Given the description of an element on the screen output the (x, y) to click on. 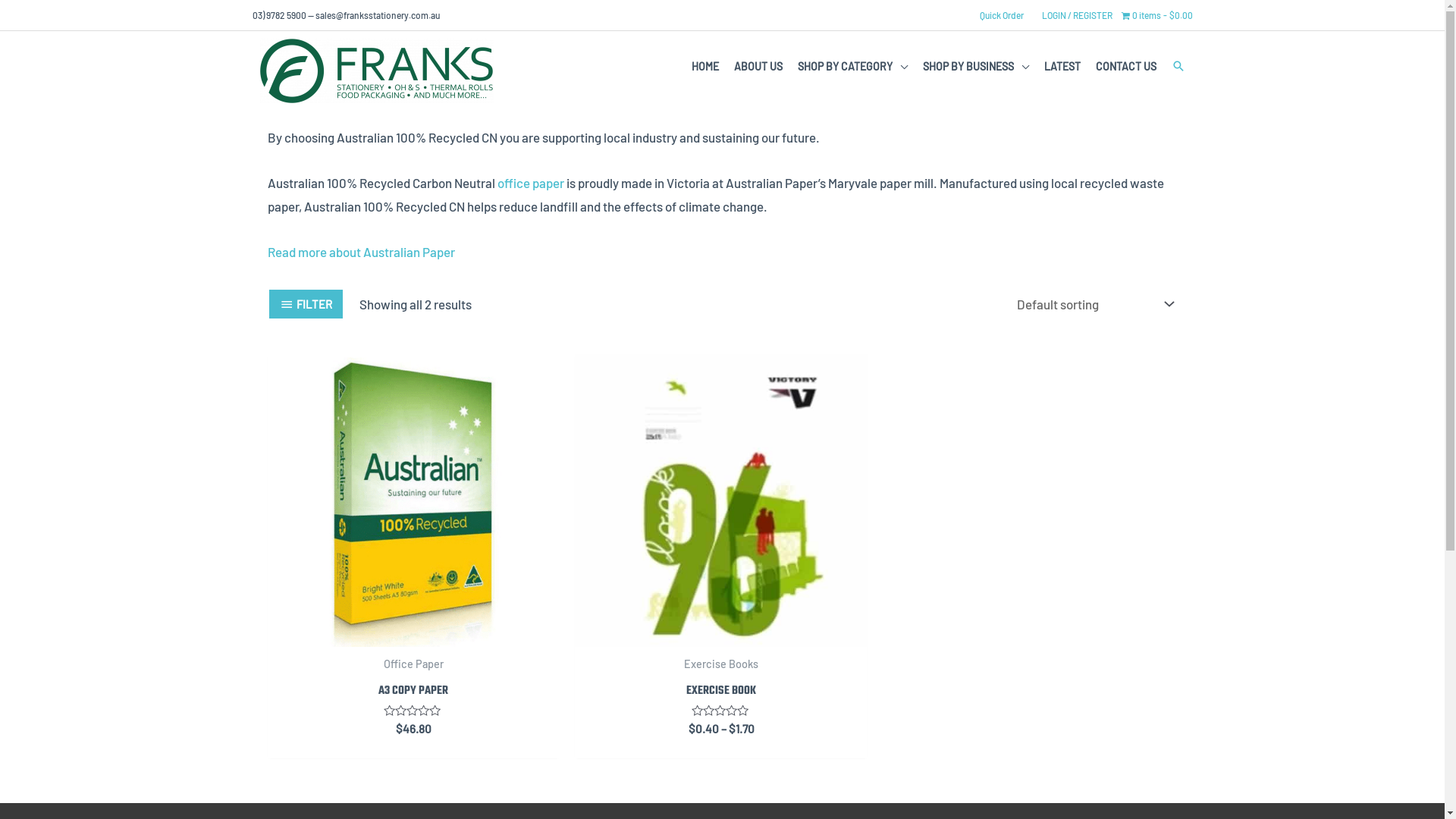
SHOP BY CATEGORY Element type: text (852, 66)
0 items$0.00 Element type: text (1156, 14)
LATEST Element type: text (1061, 66)
EXERCISE BOOK Element type: text (721, 694)
CONTACT US Element type: text (1125, 66)
Read more about Australian Paper Element type: text (360, 251)
LOGIN / REGISTER Element type: text (1076, 15)
SEARCH Element type: text (1177, 65)
office paper Element type: text (528, 182)
A3 COPY PAPER Element type: text (413, 694)
Quick Order Element type: text (1001, 15)
HOME Element type: text (705, 66)
SHOP BY BUSINESS Element type: text (974, 66)
FILTER Element type: text (304, 304)
ABOUT US Element type: text (758, 66)
